Given the description of an element on the screen output the (x, y) to click on. 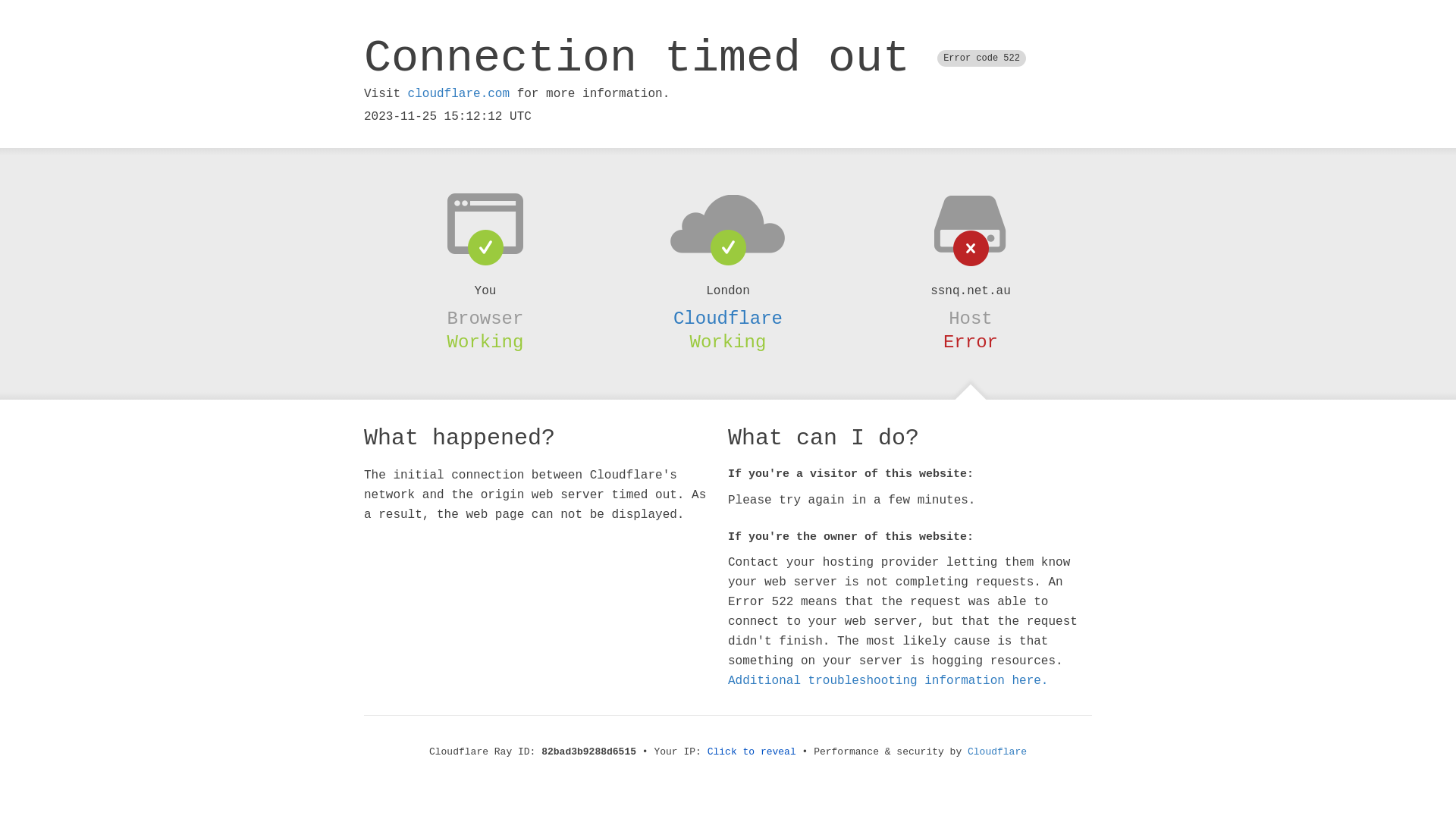
Cloudflare Element type: text (727, 318)
Additional troubleshooting information here. Element type: text (888, 680)
cloudflare.com Element type: text (458, 93)
Click to reveal Element type: text (751, 751)
Cloudflare Element type: text (996, 751)
